Given the description of an element on the screen output the (x, y) to click on. 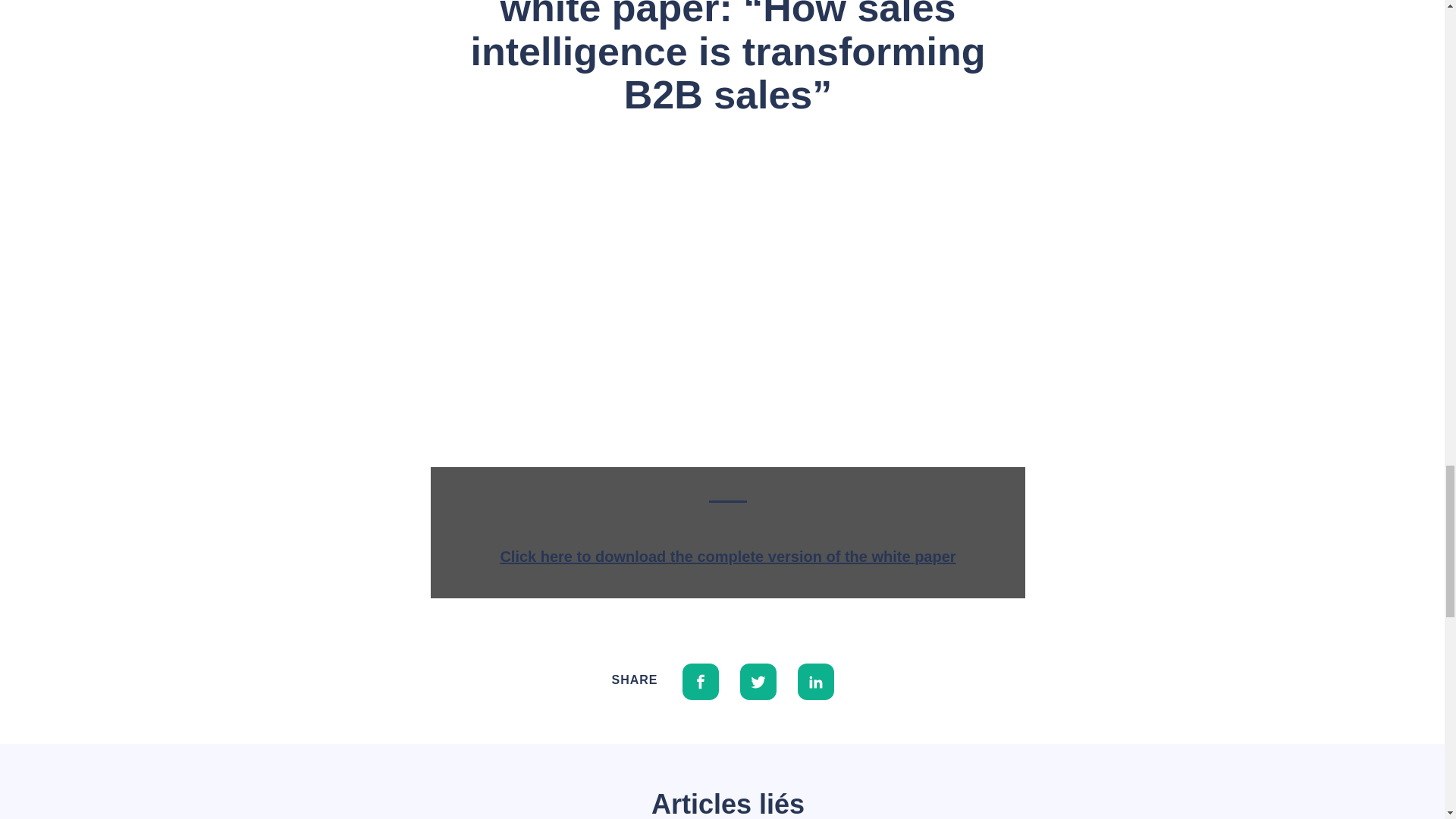
Partager sur Facebook (701, 679)
Partager sur Twitter (758, 679)
Partager sur LinkedIn (816, 679)
